Given the description of an element on the screen output the (x, y) to click on. 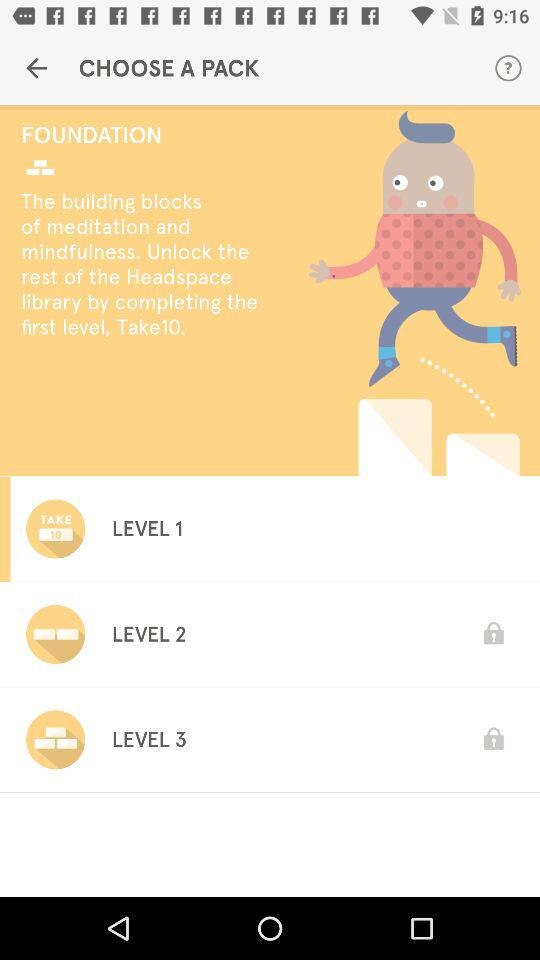
swipe to the the building blocks icon (145, 263)
